Given the description of an element on the screen output the (x, y) to click on. 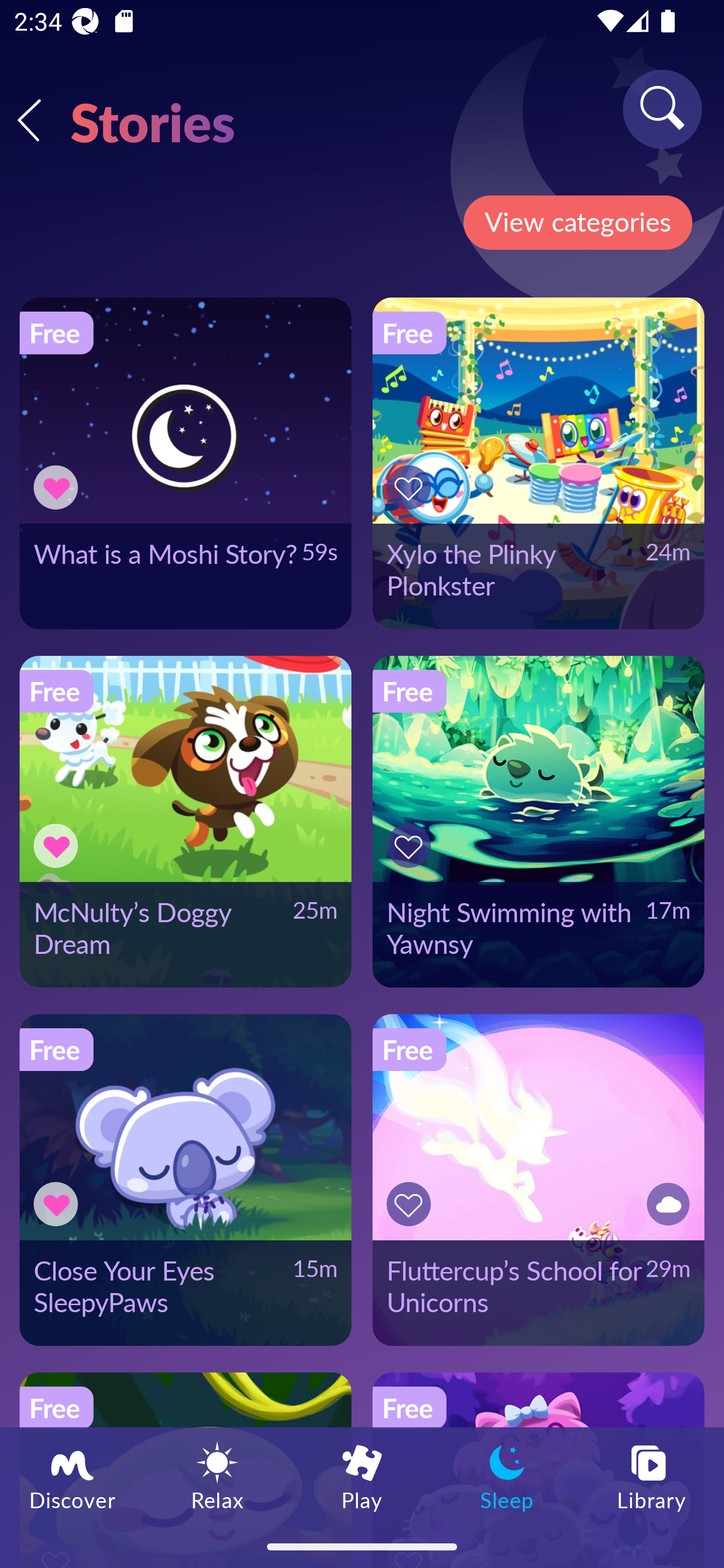
View categories (577, 222)
Button (58, 487)
Button (411, 487)
Button (58, 844)
Button (411, 844)
Button (58, 1203)
Button (411, 1203)
Button (665, 1203)
Discover (72, 1475)
Relax (216, 1475)
Play (361, 1475)
Library (651, 1475)
